Given the description of an element on the screen output the (x, y) to click on. 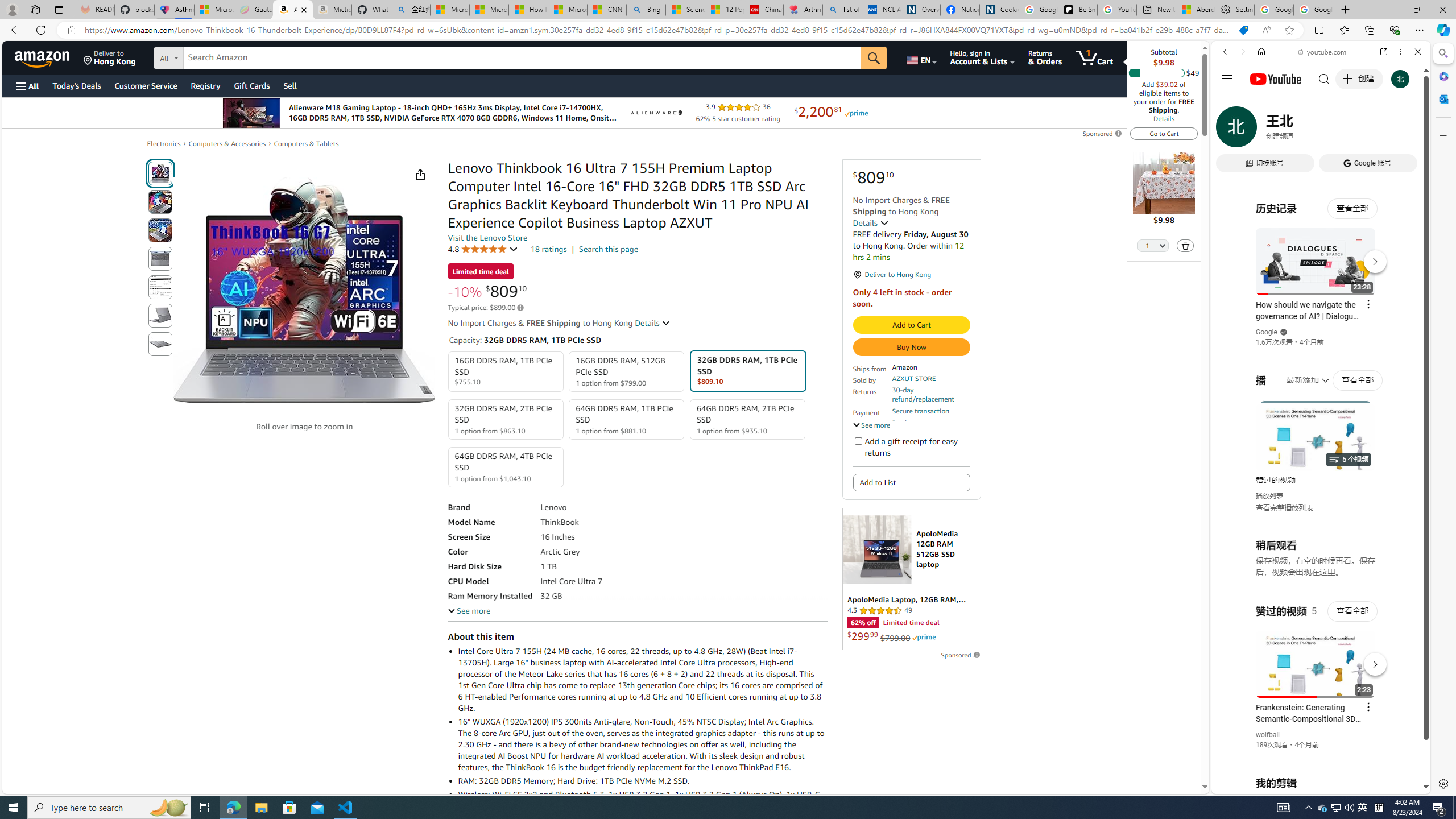
Delete (1184, 245)
Search in (210, 56)
Search Amazon (522, 57)
